Given the description of an element on the screen output the (x, y) to click on. 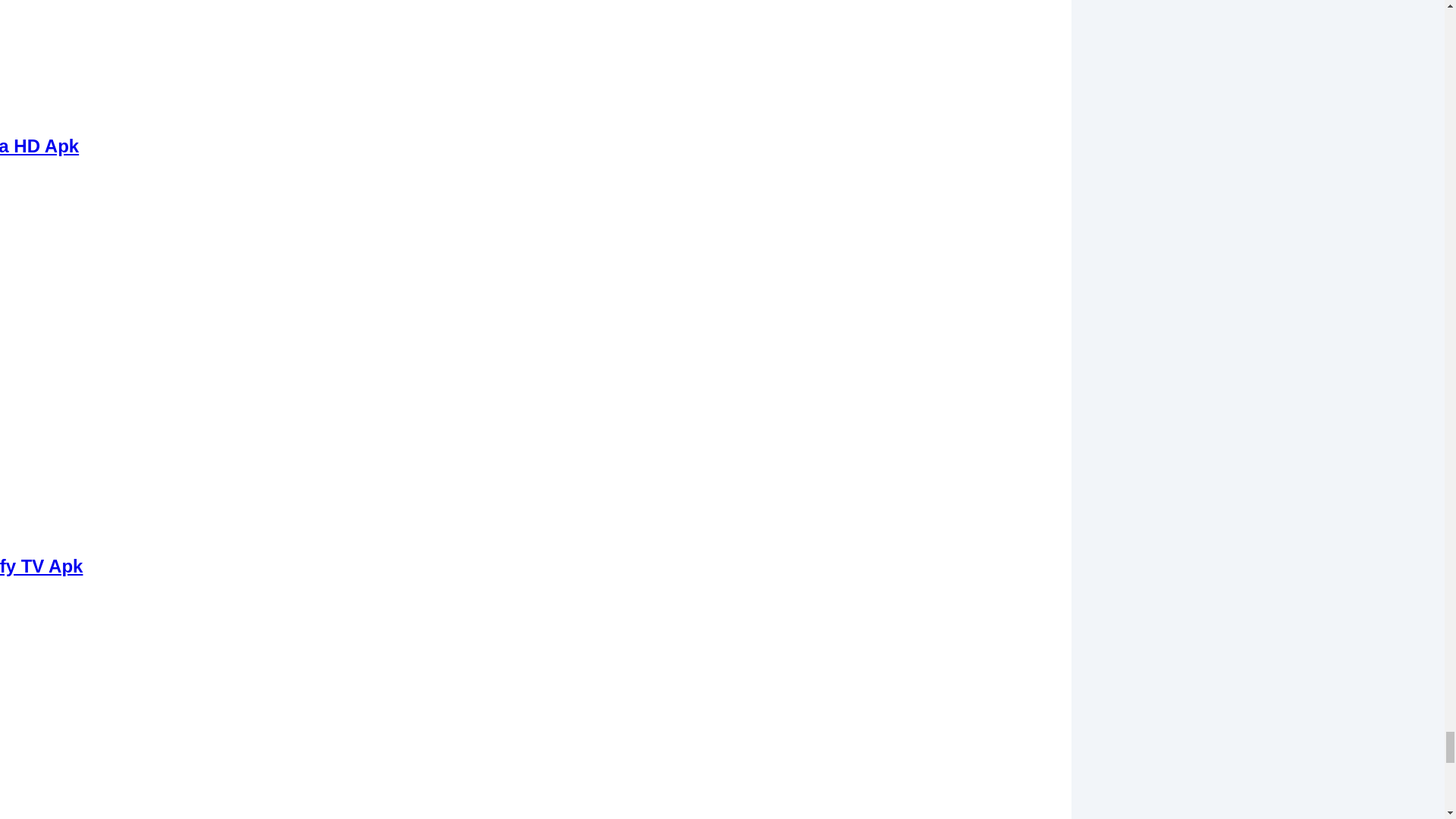
Sportzfy TV Apk (41, 566)
Cinema HD Apk (39, 145)
